Given the description of an element on the screen output the (x, y) to click on. 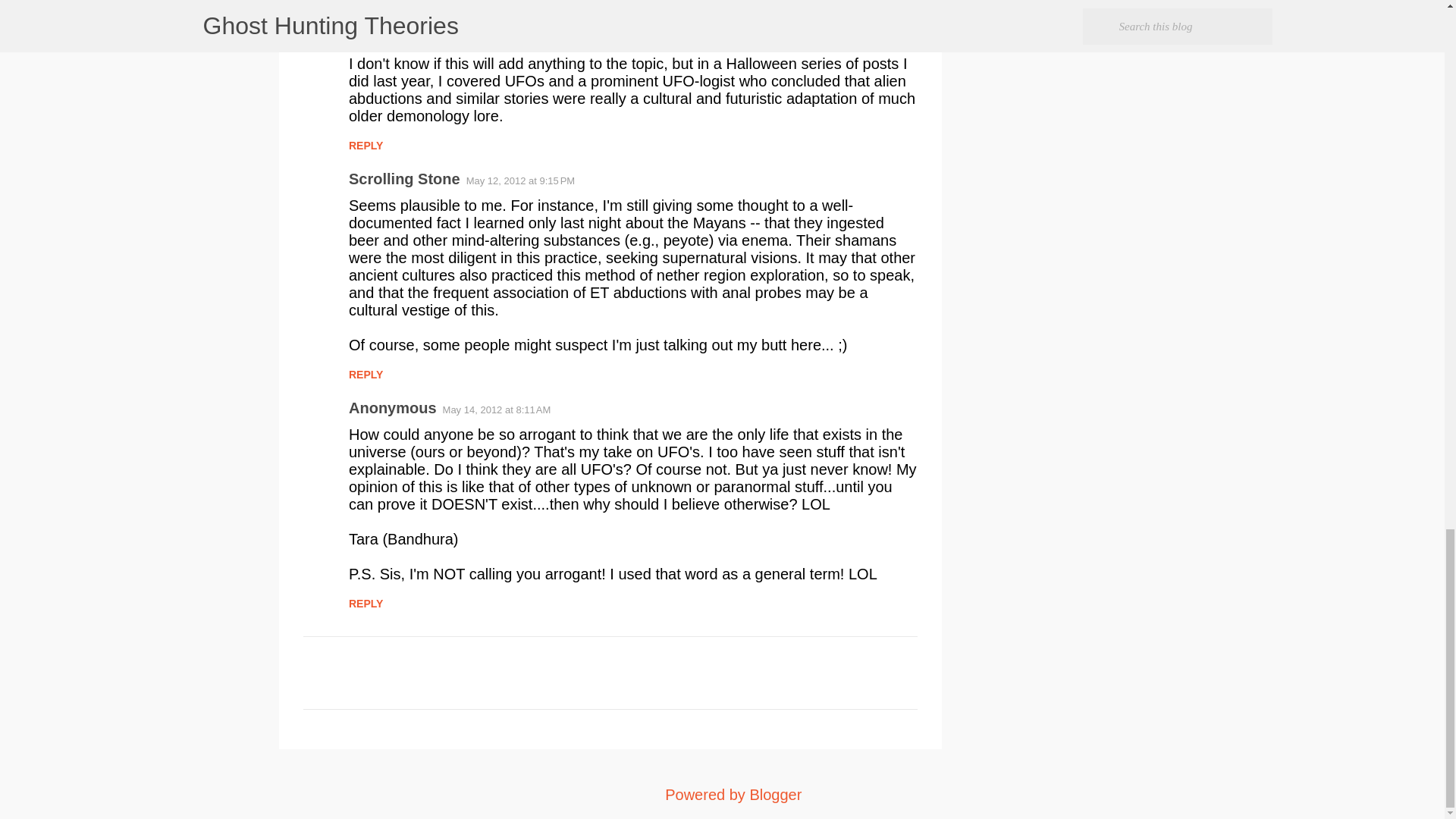
Scrolling Stone (404, 178)
REPLY (365, 603)
REPLY (365, 145)
LC Douglass (395, 36)
REPLY (365, 4)
REPLY (365, 374)
